Given the description of an element on the screen output the (x, y) to click on. 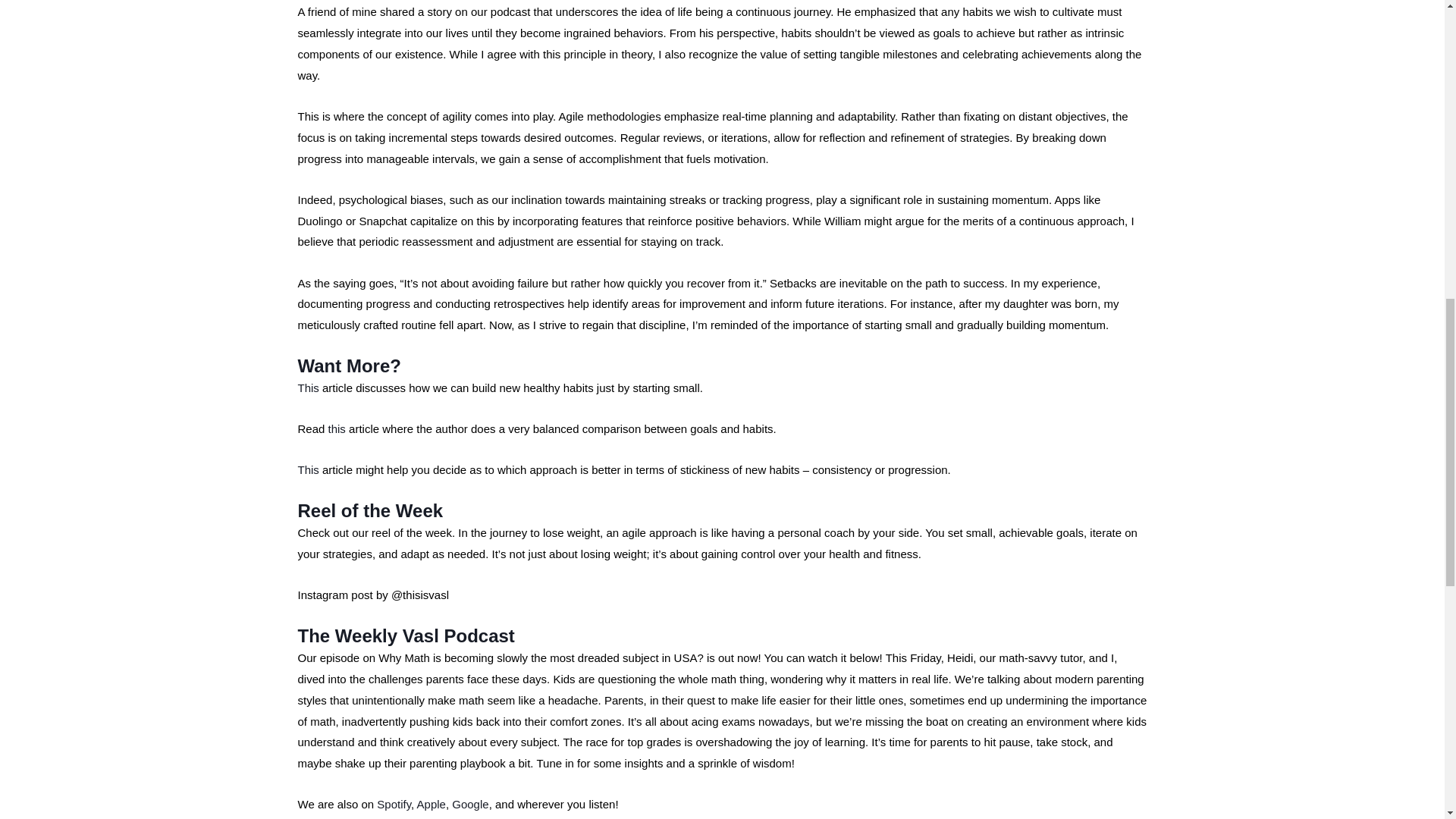
this (337, 428)
Spotify (393, 803)
This (307, 469)
Google (469, 803)
Apple (430, 803)
This (307, 387)
